Given the description of an element on the screen output the (x, y) to click on. 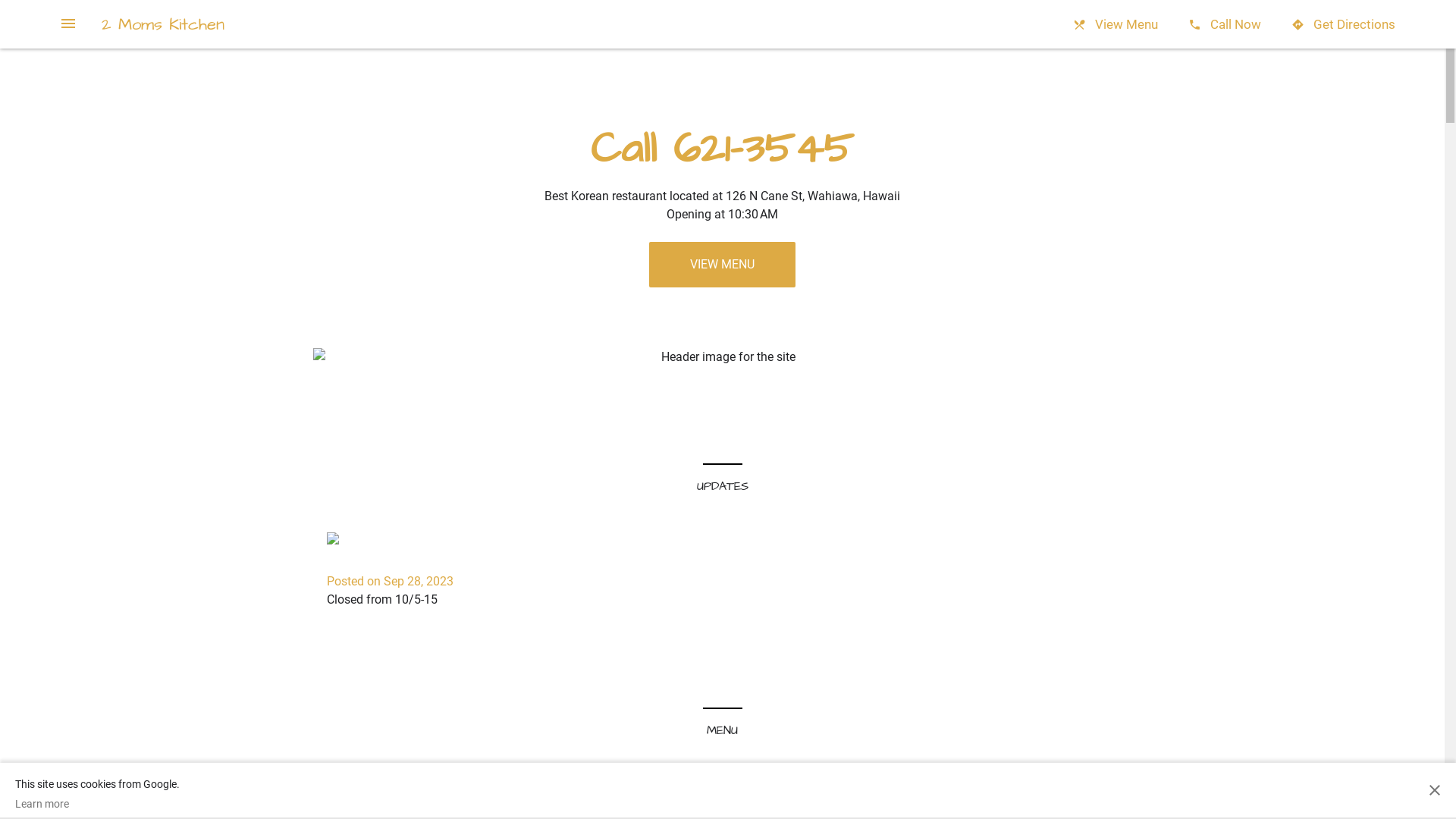
VIEW MENU Element type: text (722, 264)
Learn more Element type: text (97, 803)
2 Moms Kitchen Element type: text (162, 23)
Posted on Sep 28, 2023 Element type: text (389, 581)
